Given the description of an element on the screen output the (x, y) to click on. 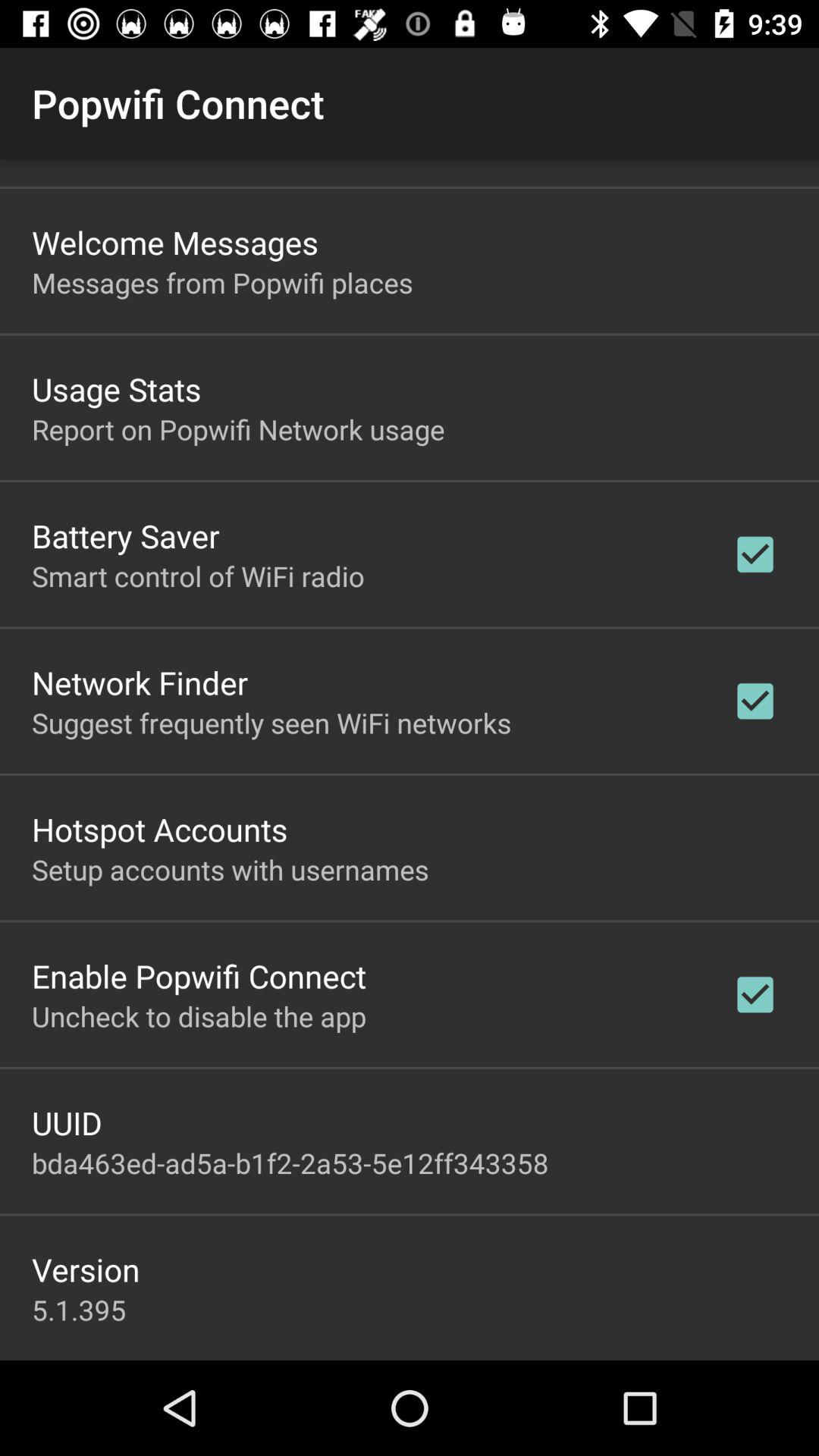
choose the smart control of app (197, 575)
